Given the description of an element on the screen output the (x, y) to click on. 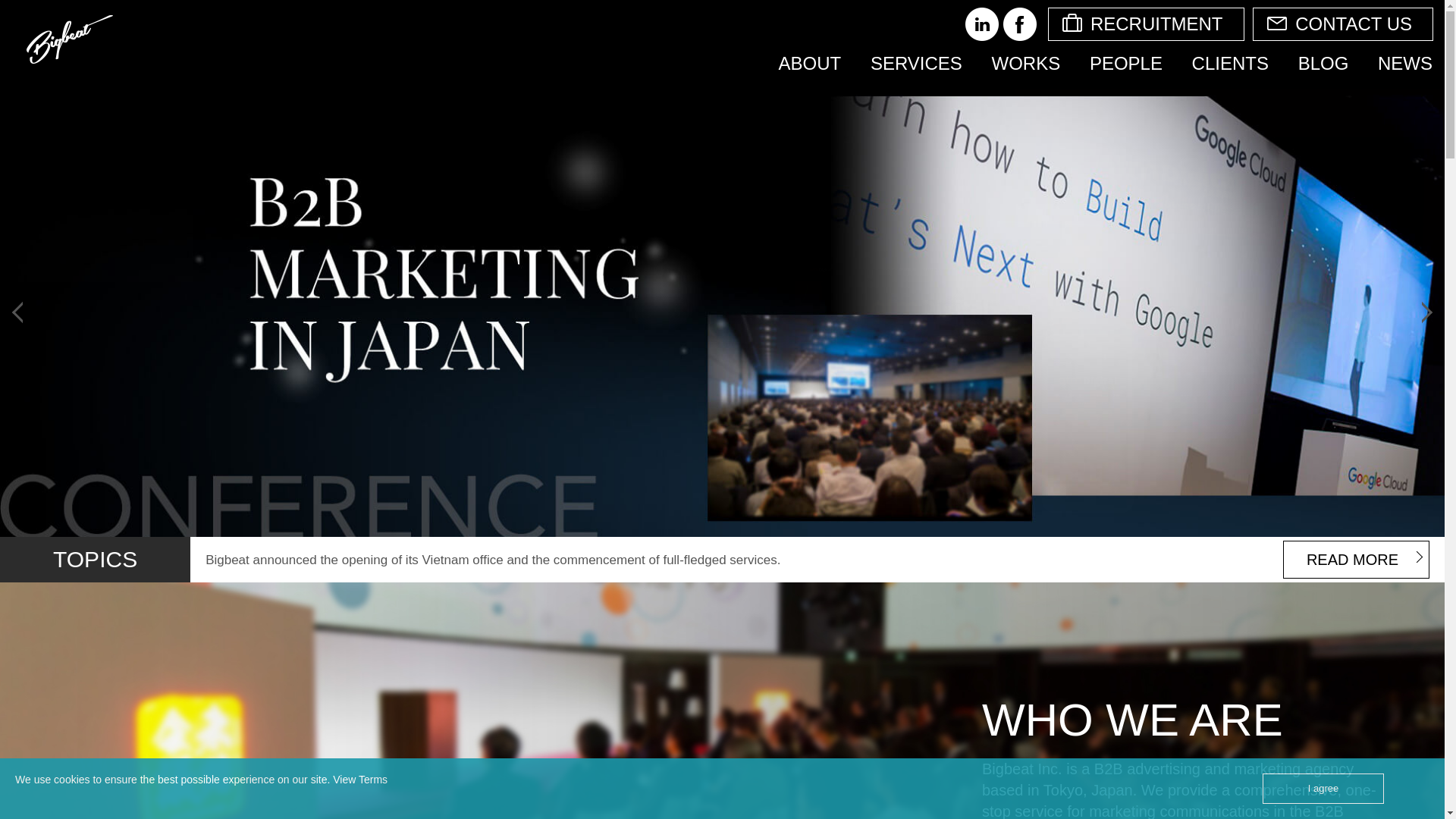
BLOG (1323, 64)
PEOPLE (1125, 64)
I agree (1323, 788)
CONTACT US (1342, 23)
READ MORE (1355, 559)
SERVICES (916, 64)
our privacy policy (372, 779)
ABOUT (810, 64)
WORKS (1026, 64)
CLIENTS (1230, 64)
READ MORE (1355, 559)
RECRUITMENT (1146, 23)
